Given the description of an element on the screen output the (x, y) to click on. 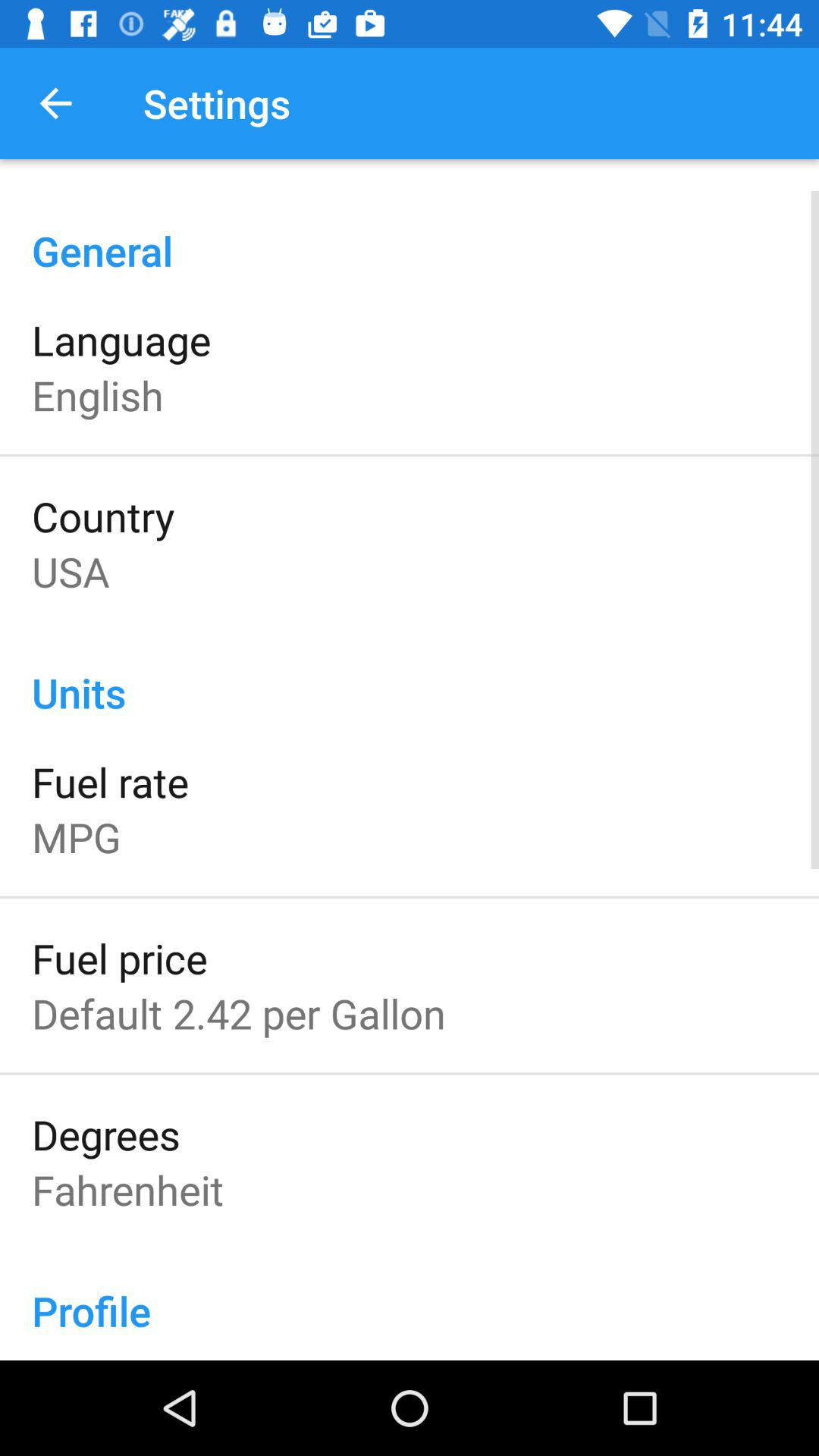
launch the item above the default 2 42 icon (119, 957)
